Given the description of an element on the screen output the (x, y) to click on. 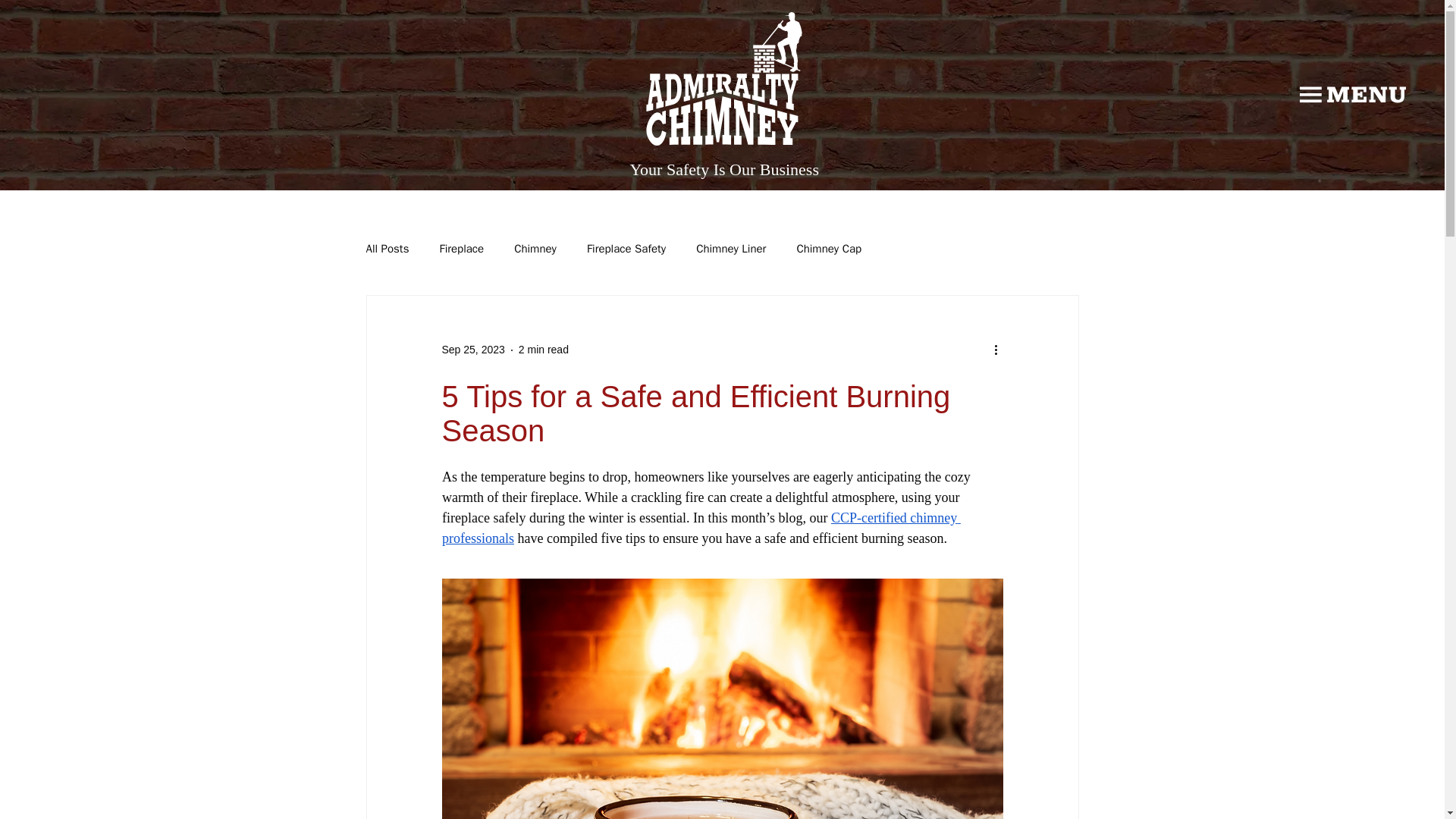
CCP-certified chimney professionals (700, 528)
2 min read (543, 349)
Chimney Cap (828, 248)
Fireplace (461, 248)
Chimney Liner (730, 248)
Sep 25, 2023 (472, 349)
All Posts (387, 248)
Chimney (534, 248)
Fireplace Safety (625, 248)
